Given the description of an element on the screen output the (x, y) to click on. 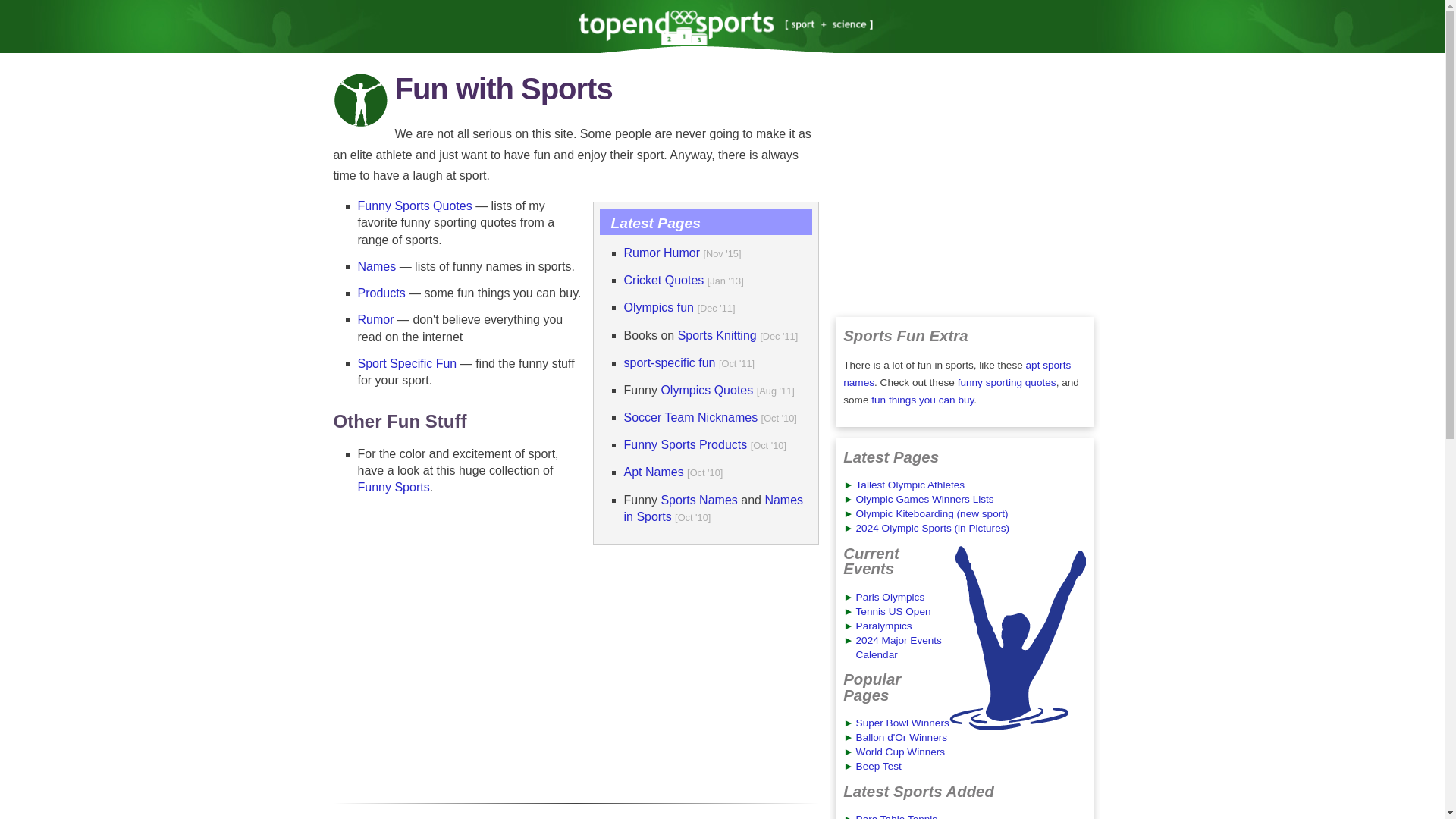
Funny Sports (393, 486)
Sports Names (698, 499)
funny sporting quotes (1007, 382)
Cricket Quotes (663, 279)
Soccer Team Nicknames (690, 417)
Tallest Olympic Athletes (910, 484)
Funny Sports Quotes (414, 205)
Sport Specific Fun (407, 363)
fun things you can buy (922, 399)
sport-specific fun (668, 362)
